Given the description of an element on the screen output the (x, y) to click on. 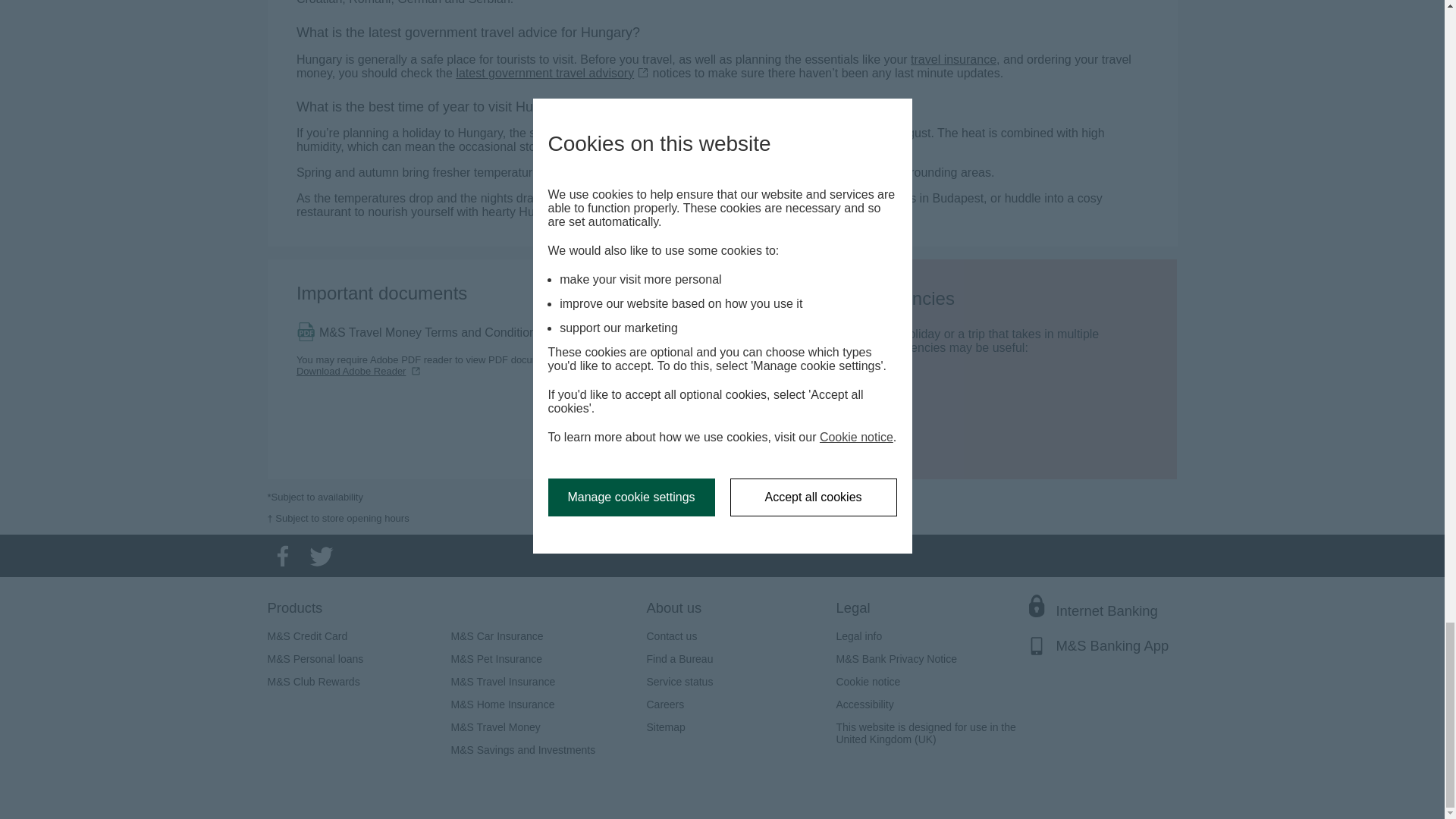
PDF Document (427, 332)
travel insurance (953, 59)
latest government travel advisory (552, 72)
